Given the description of an element on the screen output the (x, y) to click on. 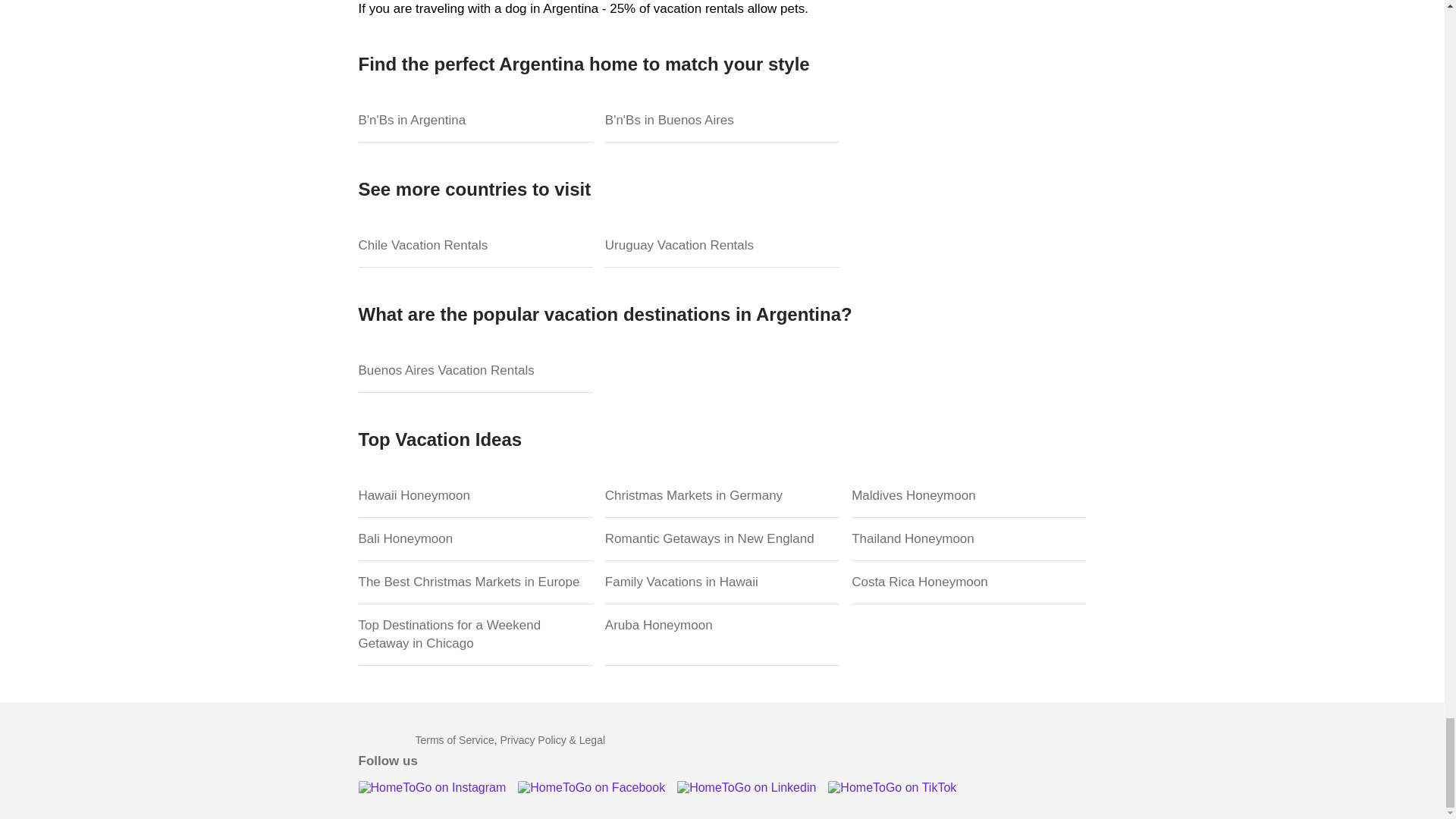
Chile Vacation Rentals (475, 245)
Aruba Honeymoon (722, 634)
Hawaii Honeymoon (475, 496)
Bali Honeymoon (475, 539)
Romantic Getaways in New England (722, 539)
B'n'Bs in Buenos Aires (722, 120)
The Best Christmas Markets in Europe (475, 582)
Costa Rica Honeymoon (968, 582)
Uruguay Vacation Rentals (722, 245)
Thailand Honeymoon (968, 539)
